Given the description of an element on the screen output the (x, y) to click on. 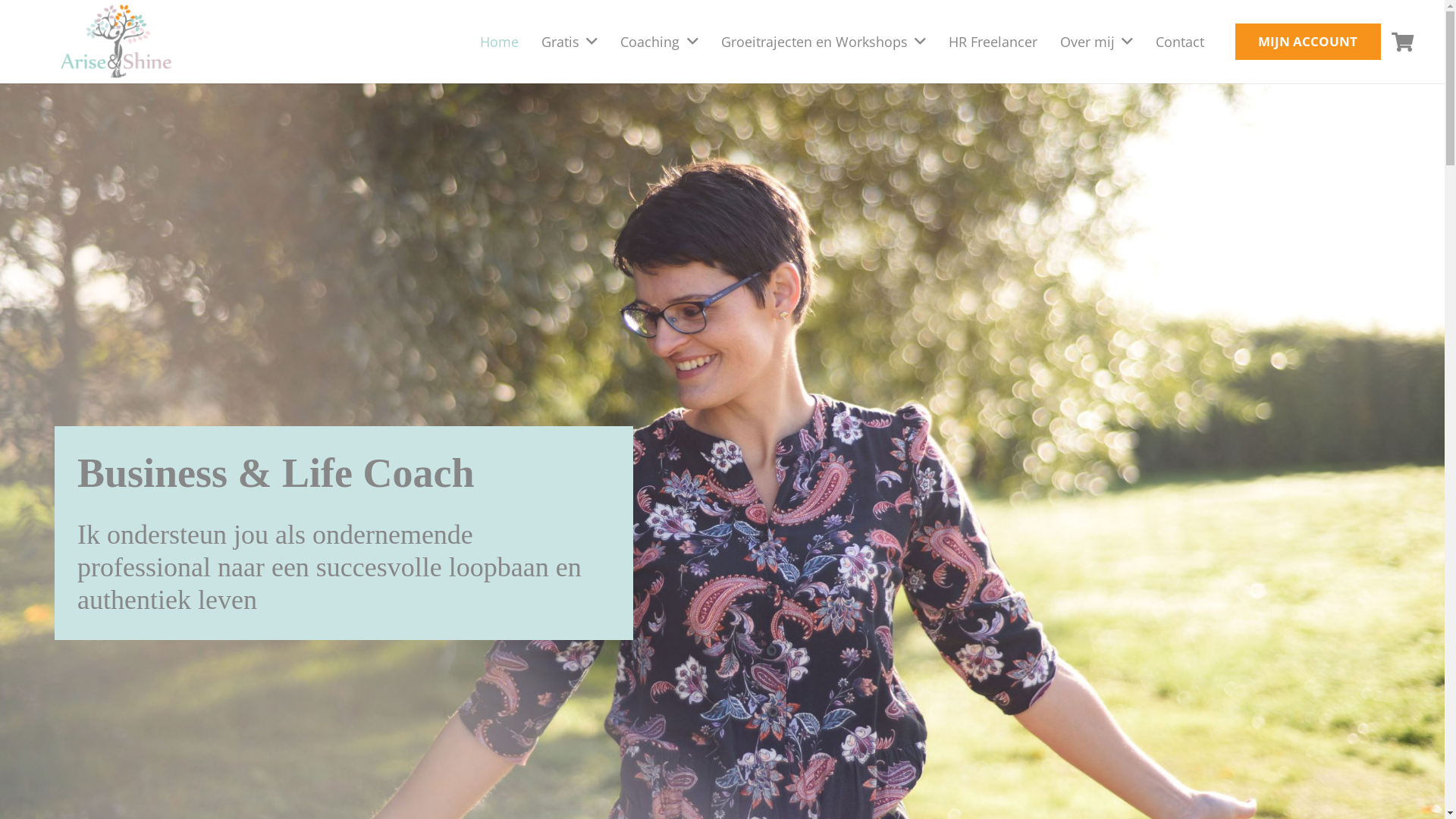
Contact Element type: text (1179, 41)
Gratis Element type: text (569, 41)
Home Element type: text (499, 41)
Groeitrajecten en Workshops Element type: text (823, 41)
HR Freelancer Element type: text (992, 41)
Over mij Element type: text (1096, 41)
Coaching Element type: text (658, 41)
MIJN ACCOUNT Element type: text (1307, 41)
